Given the description of an element on the screen output the (x, y) to click on. 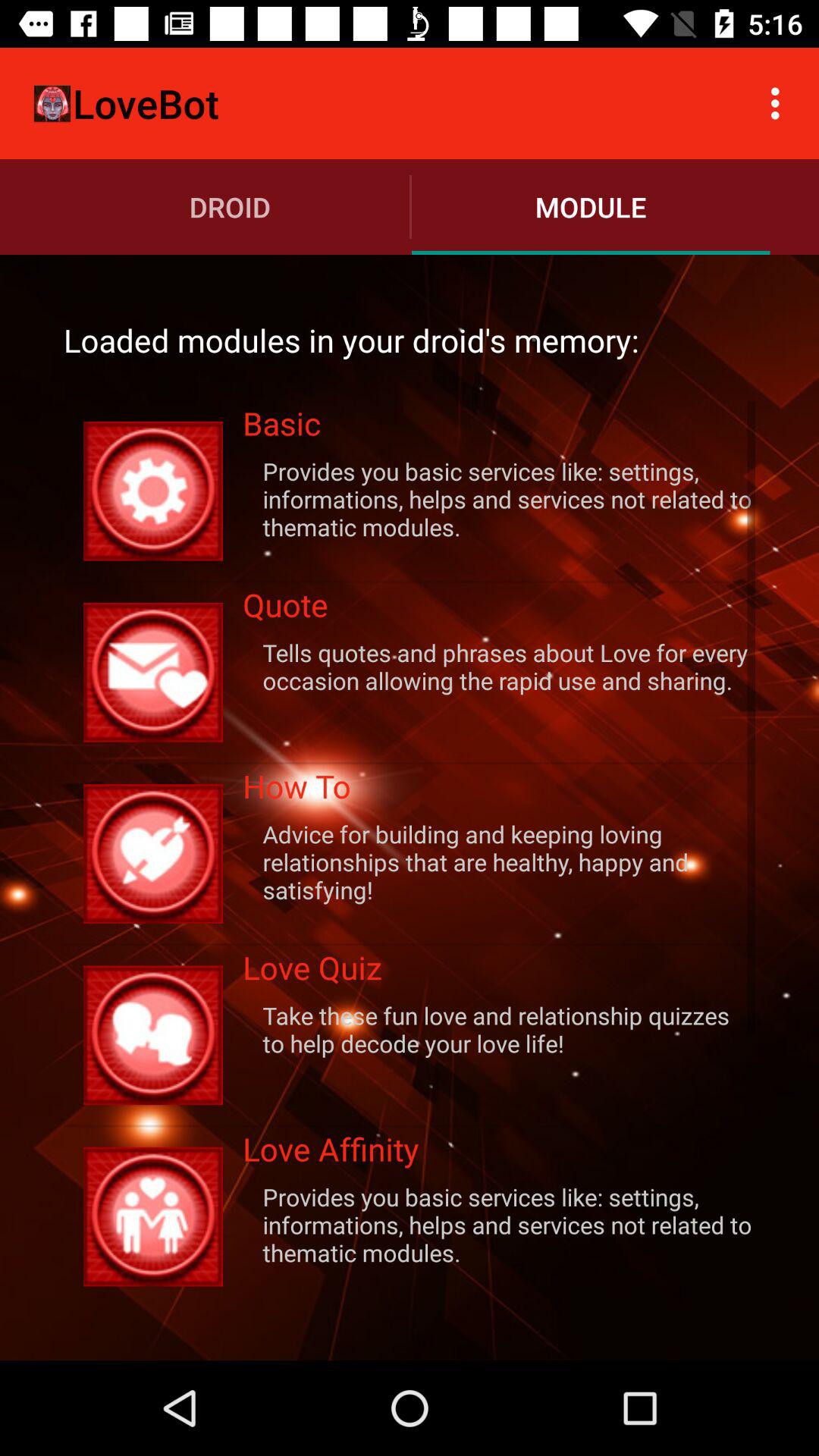
turn off the tells quotes and icon (498, 666)
